Given the description of an element on the screen output the (x, y) to click on. 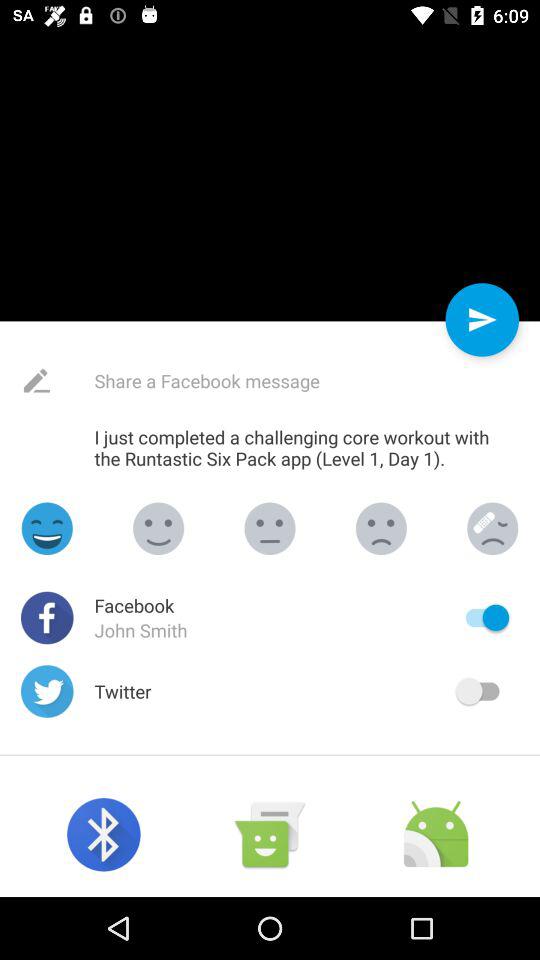
silent emoji (381, 528)
